Given the description of an element on the screen output the (x, y) to click on. 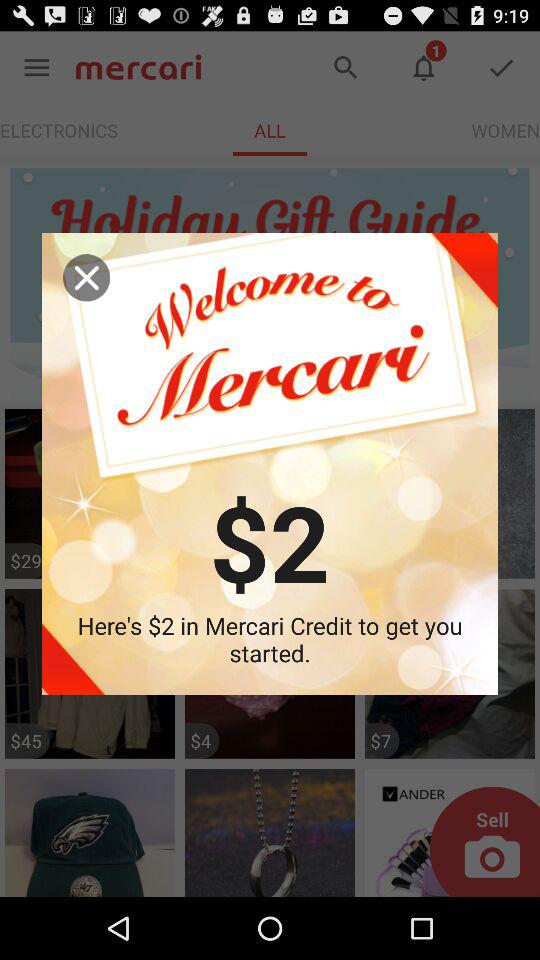
close pop up (86, 277)
